Given the description of an element on the screen output the (x, y) to click on. 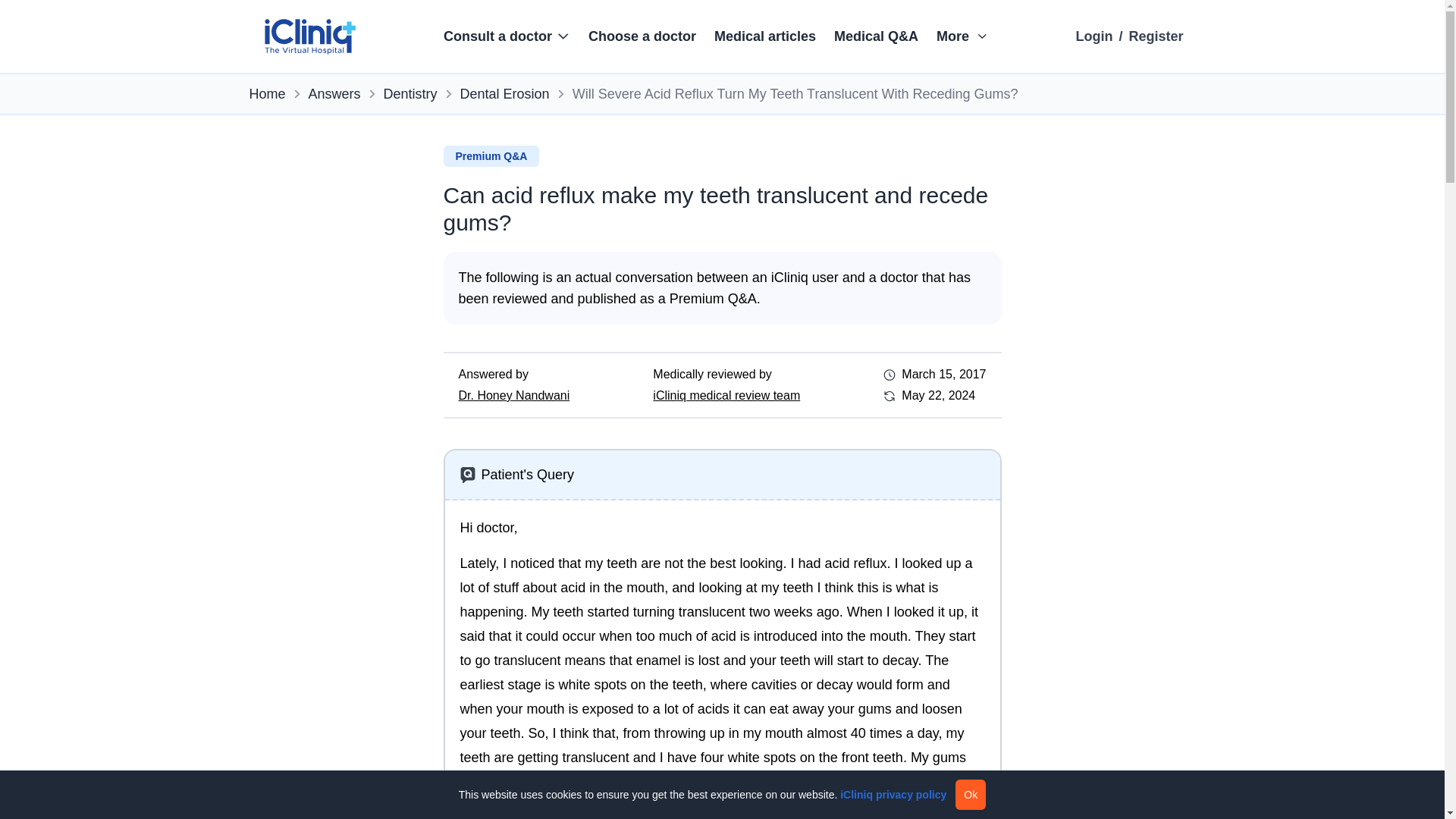
Medical articles (764, 36)
Choose a doctor (641, 36)
Register (1155, 36)
Login (1093, 36)
